Given the description of an element on the screen output the (x, y) to click on. 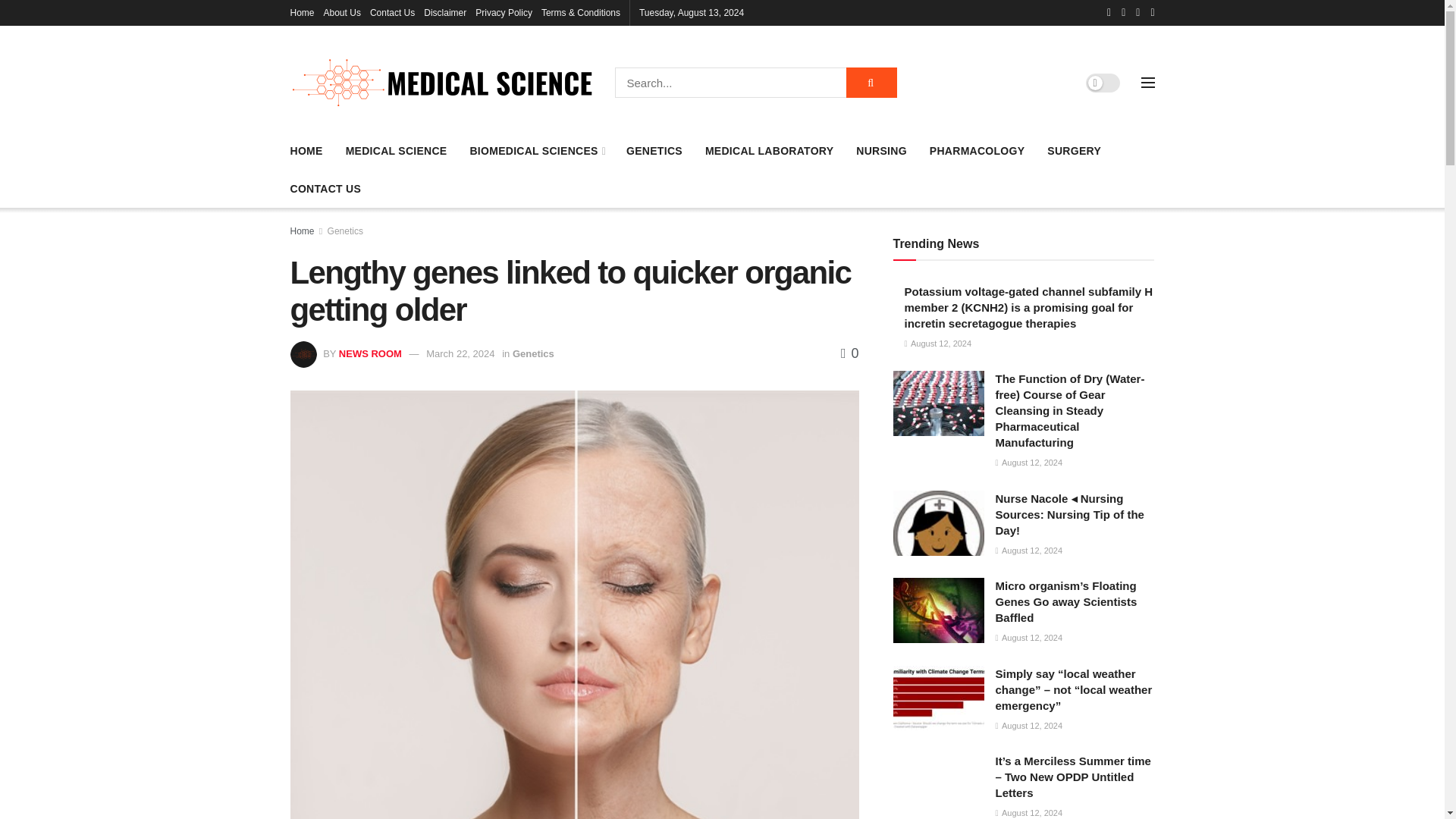
Privacy Policy (504, 12)
HOME (305, 150)
Contact Us (391, 12)
Home (301, 12)
PHARMACOLOGY (977, 150)
About Us (342, 12)
SURGERY (1073, 150)
NURSING (881, 150)
MEDICAL LABORATORY (768, 150)
Disclaimer (444, 12)
